Given the description of an element on the screen output the (x, y) to click on. 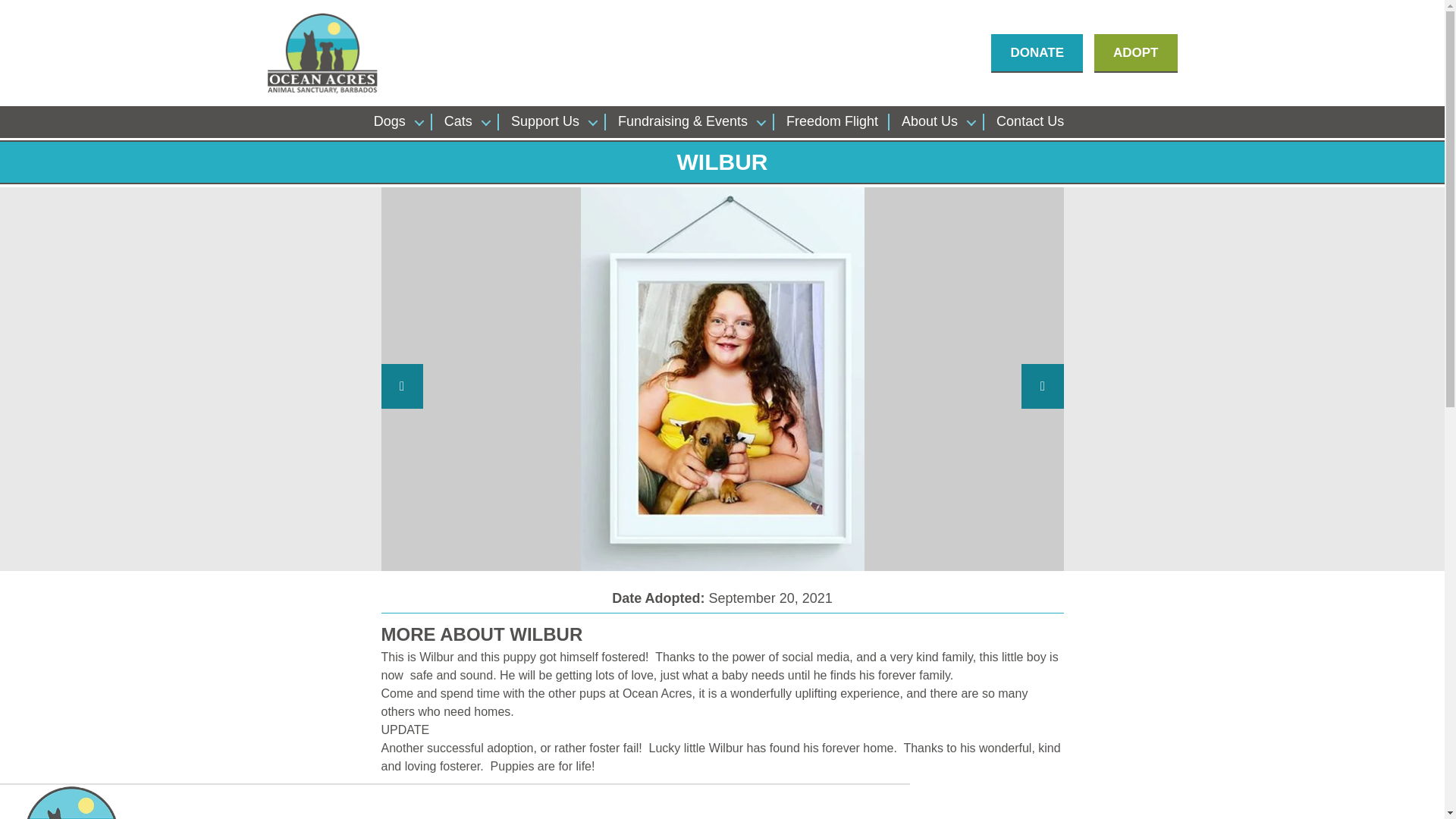
Contact Us (1029, 121)
Freedom Flight (831, 121)
DONATE (1037, 52)
ADOPT (1135, 52)
Cats (465, 121)
Dogs (397, 121)
Support Us (552, 121)
About Us (936, 121)
